Given the description of an element on the screen output the (x, y) to click on. 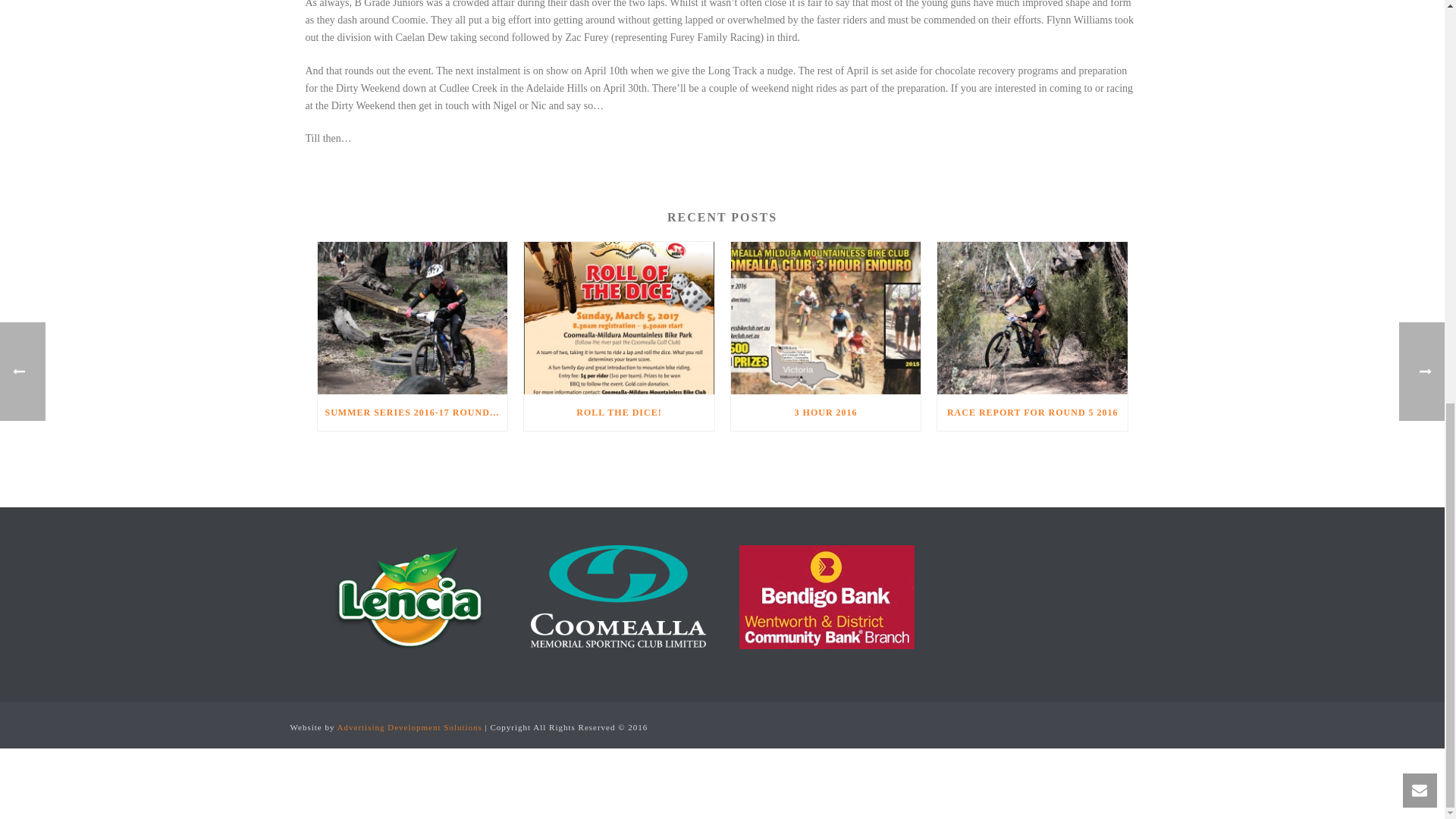
Summer Series 2016-17 Round 3, Sunday 12th January 2017 (411, 317)
3 Hour 2016 (825, 317)
Roll the Dice! (619, 317)
Race Report for Round 5 2016 (1031, 317)
